Given the description of an element on the screen output the (x, y) to click on. 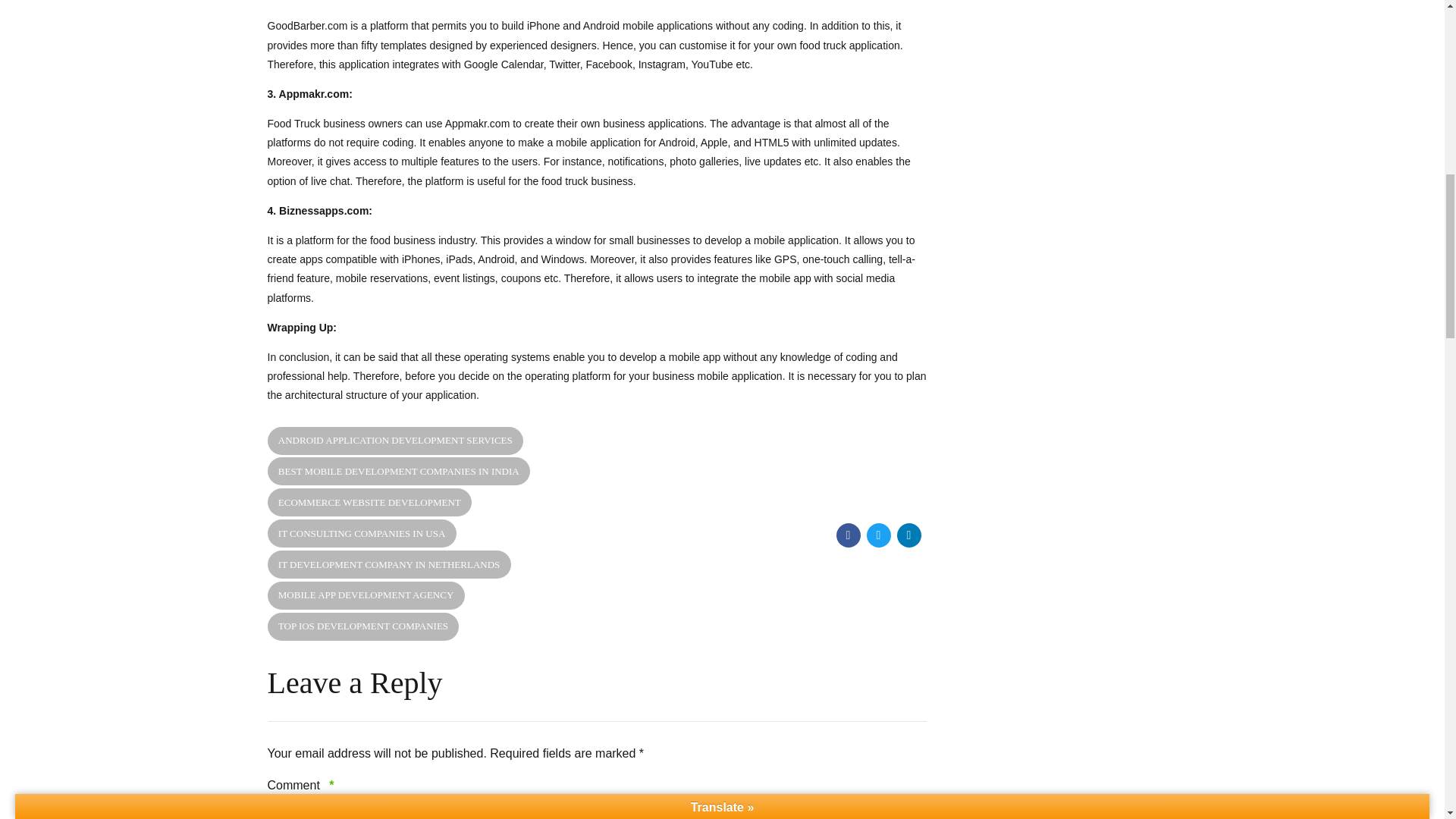
IT CONSULTING COMPANIES IN USA (360, 533)
MOBILE APP DEVELOPMENT AGENCY (365, 595)
ANDROID APPLICATION DEVELOPMENT SERVICES (394, 439)
BEST MOBILE DEVELOPMENT COMPANIES IN INDIA (397, 471)
IT DEVELOPMENT COMPANY IN NETHERLANDS (388, 564)
ECOMMERCE WEBSITE DEVELOPMENT (368, 502)
TOP IOS DEVELOPMENT COMPANIES (362, 626)
